Given the description of an element on the screen output the (x, y) to click on. 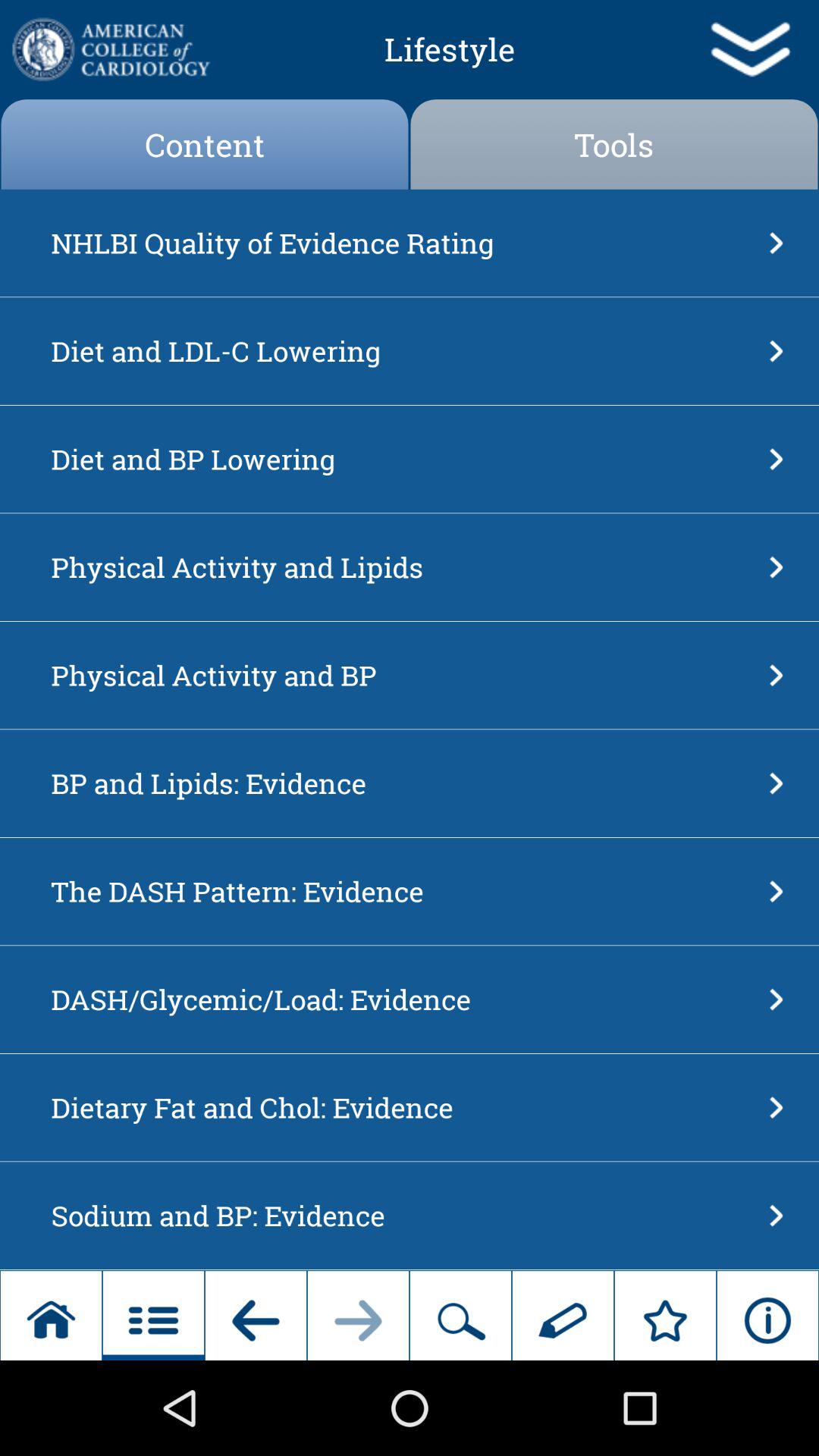
scroll to dash glycemic load app (405, 999)
